Given the description of an element on the screen output the (x, y) to click on. 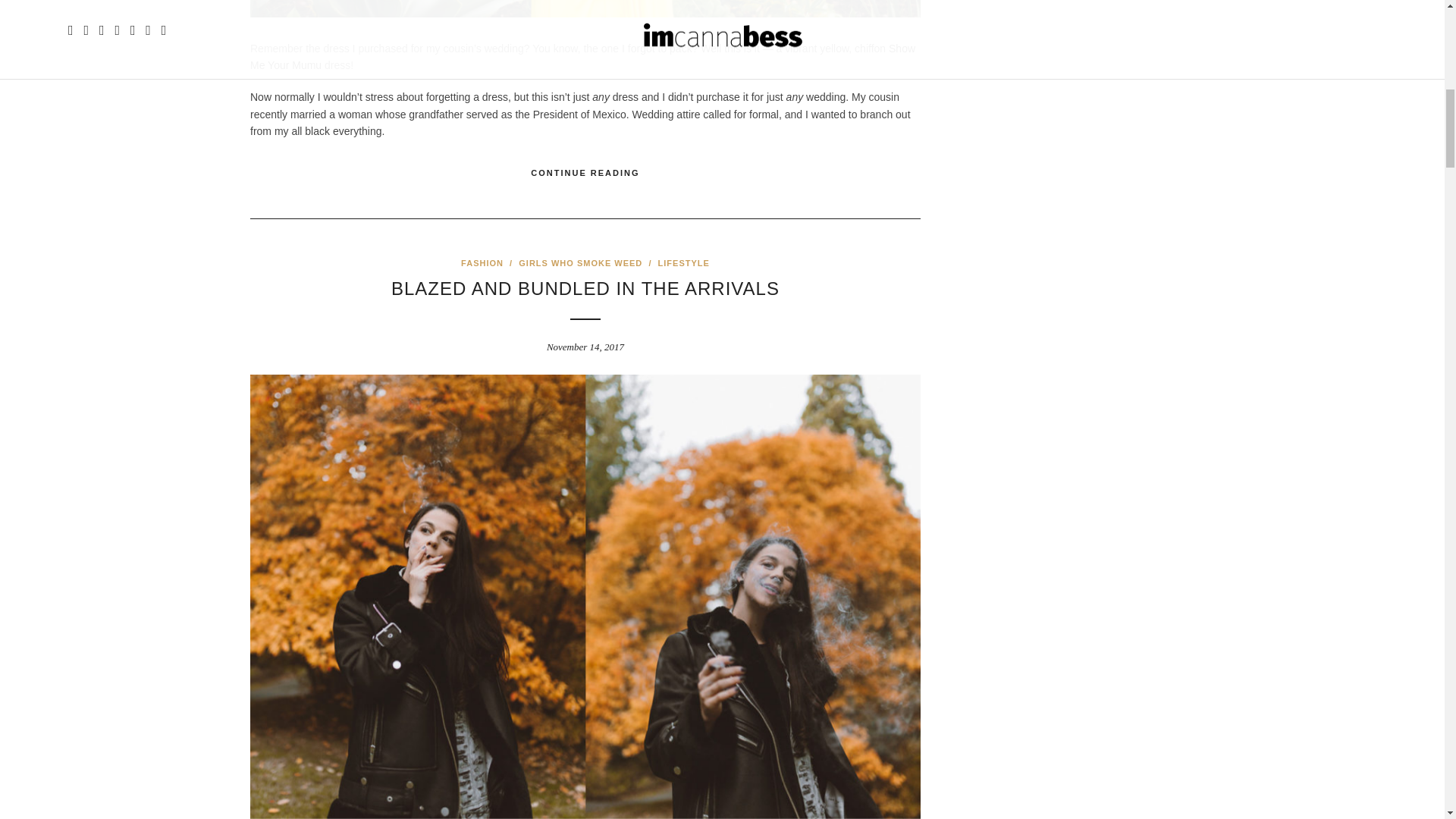
Show Me Your Mumu (582, 56)
GIRLS WHO SMOKE WEED (580, 262)
BLAZED AND BUNDLED IN THE ARRIVALS (584, 288)
LIFESTYLE (684, 262)
FASHION (482, 262)
Blazed and Bundled in The Arrivals (584, 288)
CONTINUE READING (585, 172)
